Given the description of an element on the screen output the (x, y) to click on. 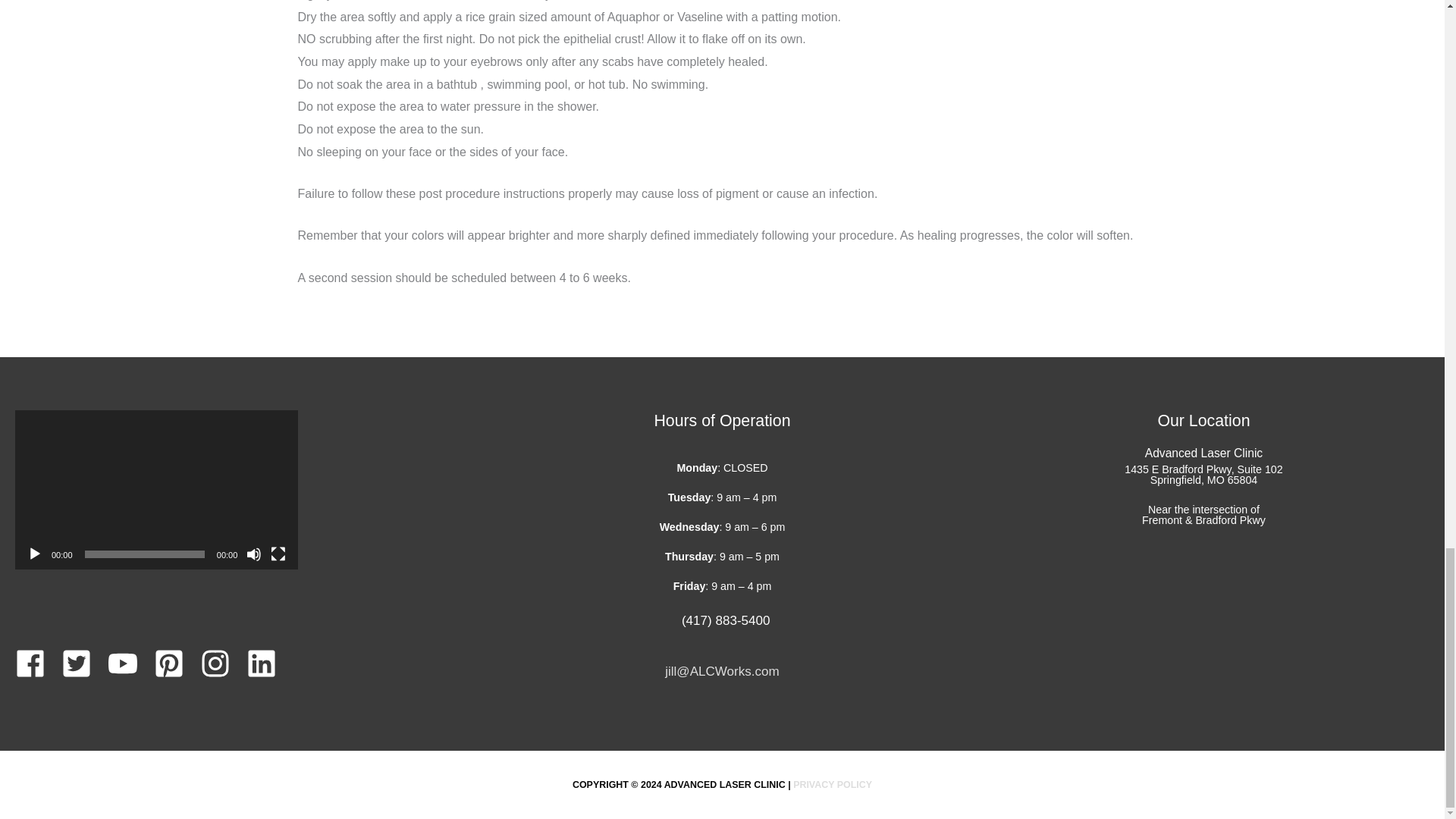
Fullscreen (277, 554)
Play (34, 554)
Mute (254, 554)
PRIVACY POLICY (832, 784)
